Given the description of an element on the screen output the (x, y) to click on. 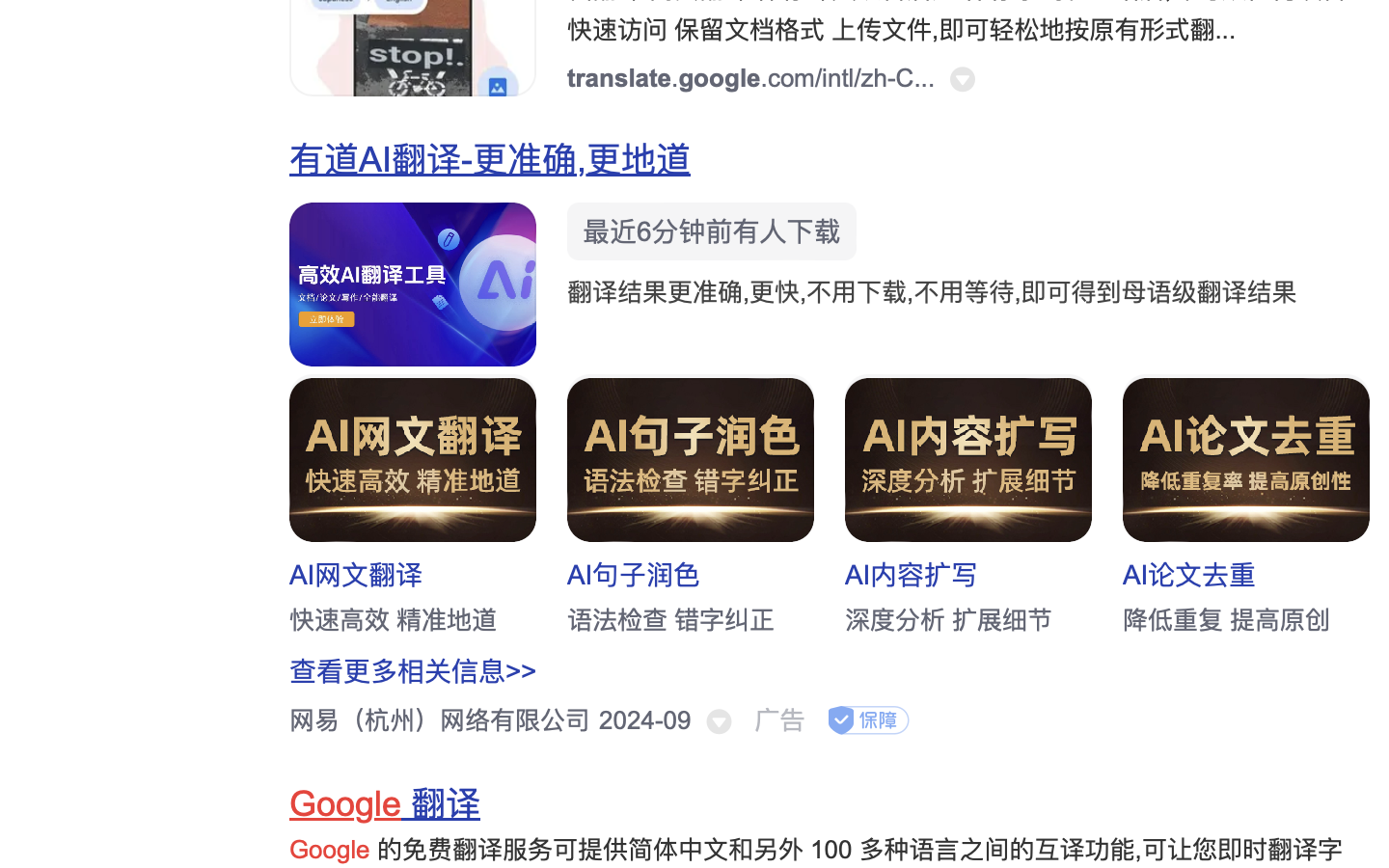
AI句子润色 Element type: AXStaticText (634, 574)
广告 Element type: AXStaticText (780, 719)
网易（杭州）网络有限公司 Element type: AXStaticText (439, 719)
